Given the description of an element on the screen output the (x, y) to click on. 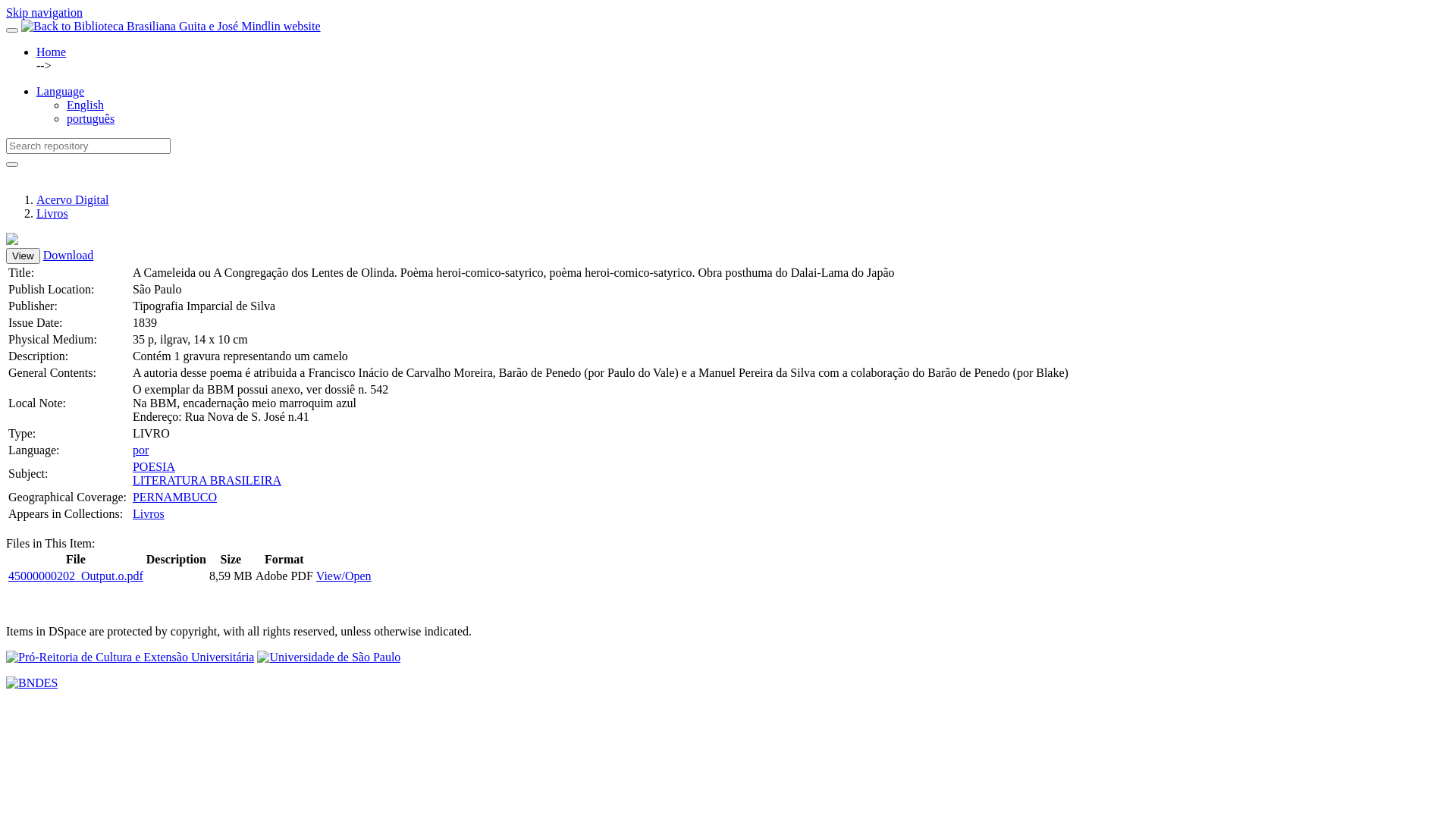
Livros Element type: text (52, 213)
LITERATURA BRASILEIRA Element type: text (206, 479)
45000000202_Output.o.pdf Element type: text (75, 575)
por Element type: text (140, 449)
English Element type: text (84, 104)
Livros Element type: text (148, 513)
BNDES Element type: hover (31, 683)
Acervo Digital Element type: text (72, 199)
POESIA Element type: text (153, 466)
View Element type: text (23, 255)
View/Open Element type: text (343, 575)
Skip navigation Element type: text (44, 12)
Language Element type: text (60, 90)
PERNAMBUCO Element type: text (174, 496)
Home Element type: text (50, 51)
Download Element type: text (68, 254)
